Given the description of an element on the screen output the (x, y) to click on. 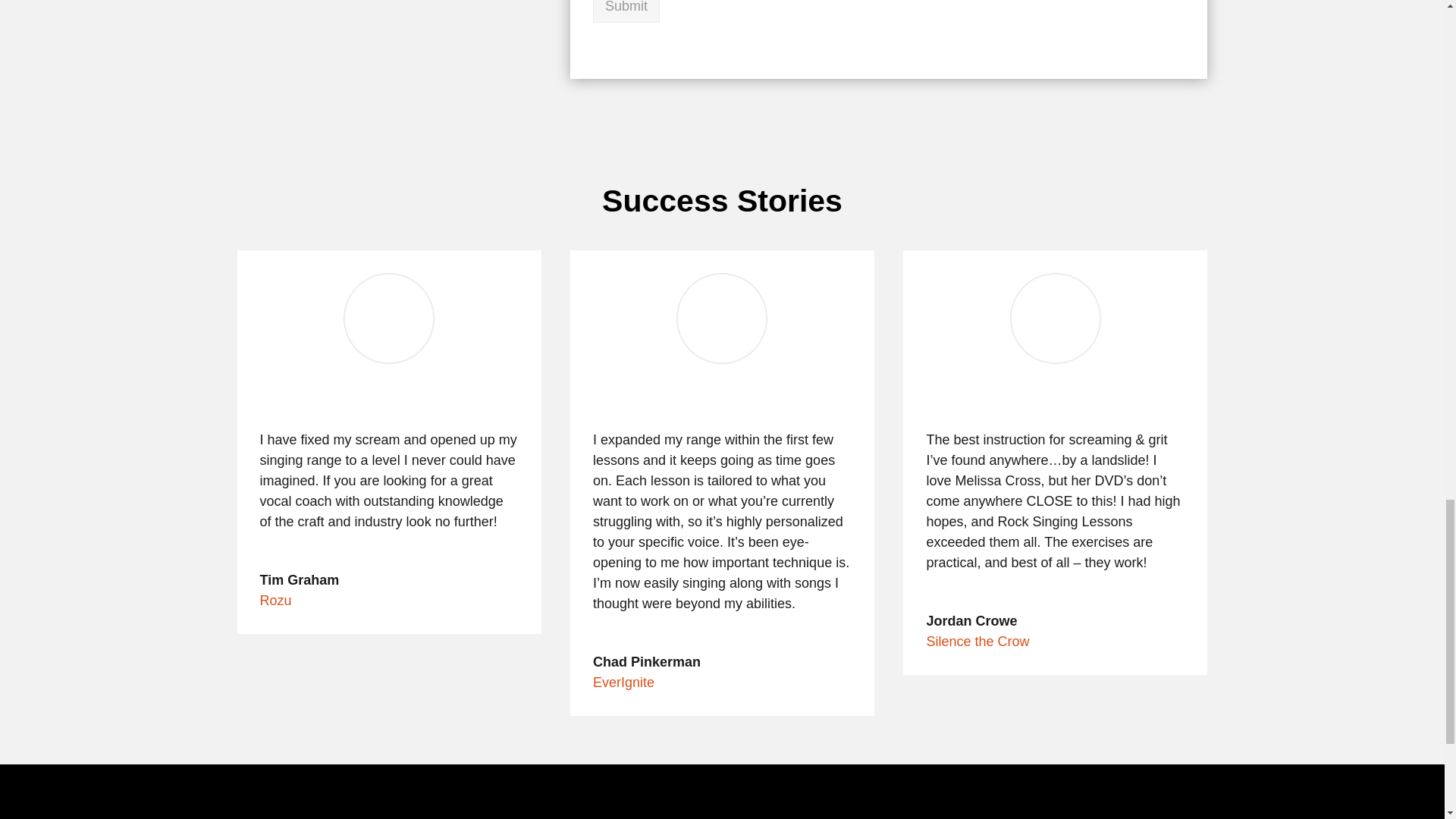
Submit (625, 11)
EverIgnite (622, 682)
Rozu (275, 600)
Silence the Crow (977, 641)
